Given the description of an element on the screen output the (x, y) to click on. 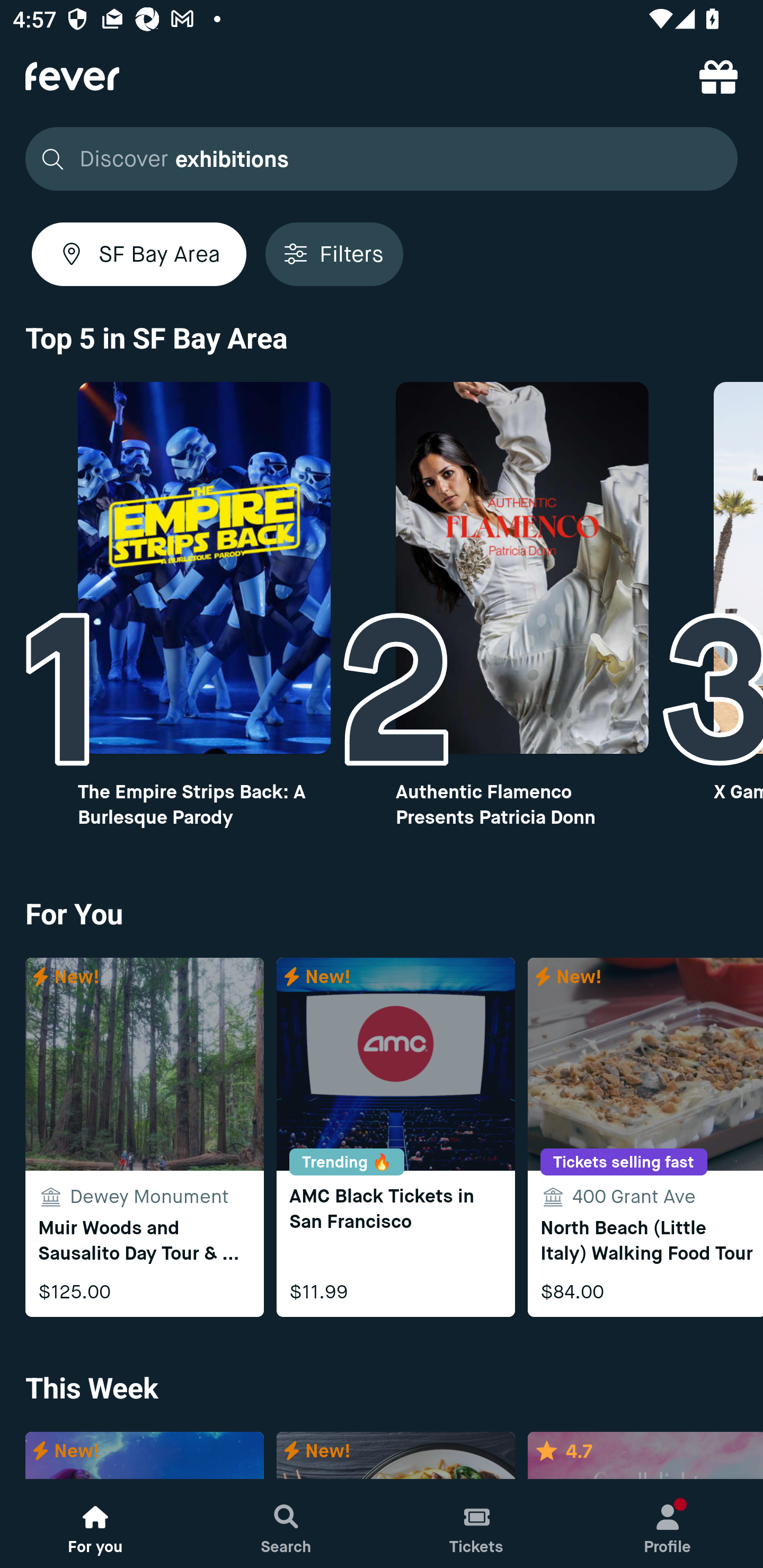
referral (718, 75)
Discover exhibitions (381, 158)
Discover exhibitions (376, 158)
SF Bay Area (139, 253)
Filters (333, 253)
Top10 image (203, 568)
Top10 image (521, 568)
Search (285, 1523)
Tickets (476, 1523)
Profile, New notification Profile (667, 1523)
